Given the description of an element on the screen output the (x, y) to click on. 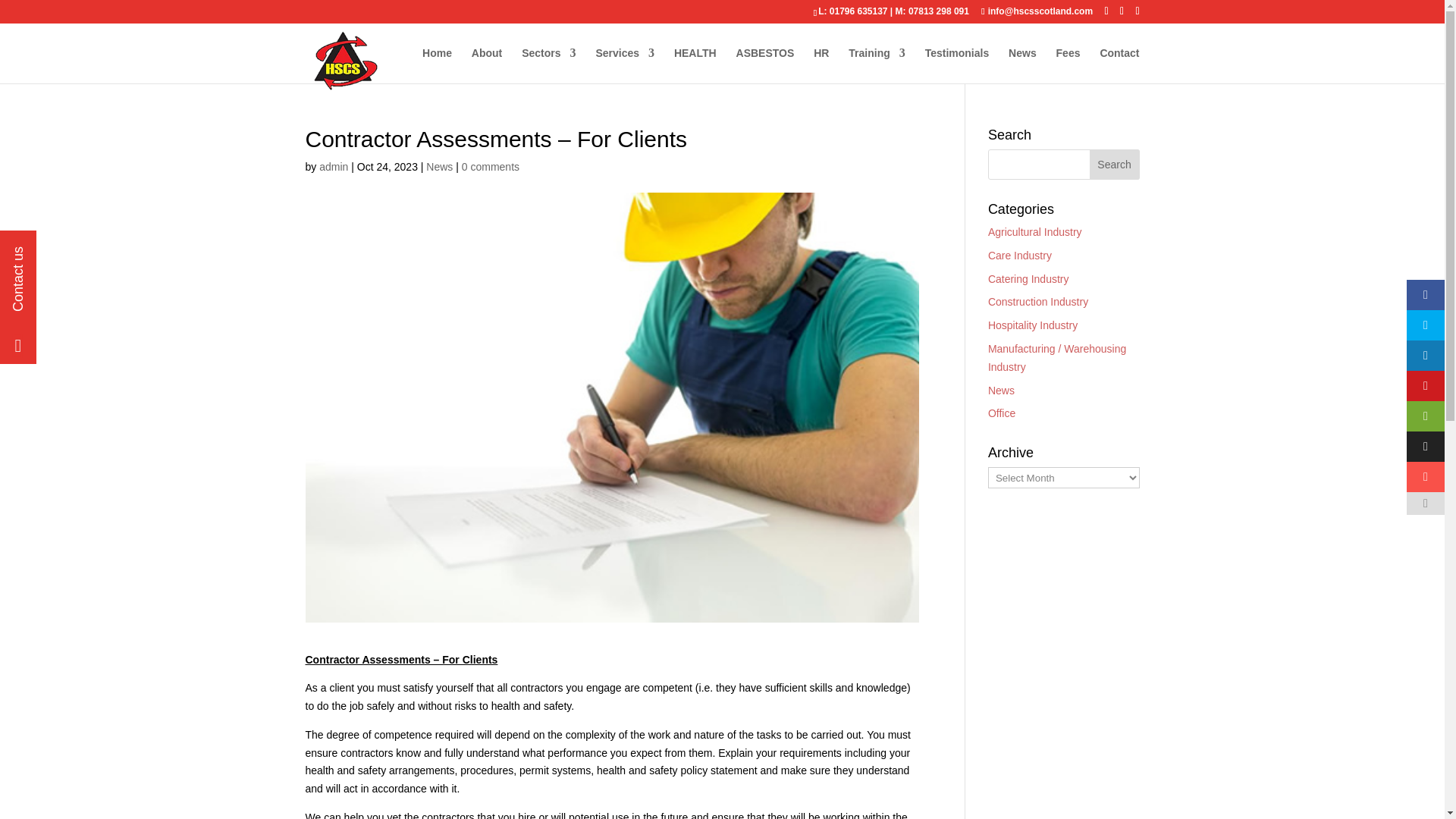
Sectors (548, 65)
Search (1114, 164)
Services (624, 65)
Posts by admin (332, 166)
